Given the description of an element on the screen output the (x, y) to click on. 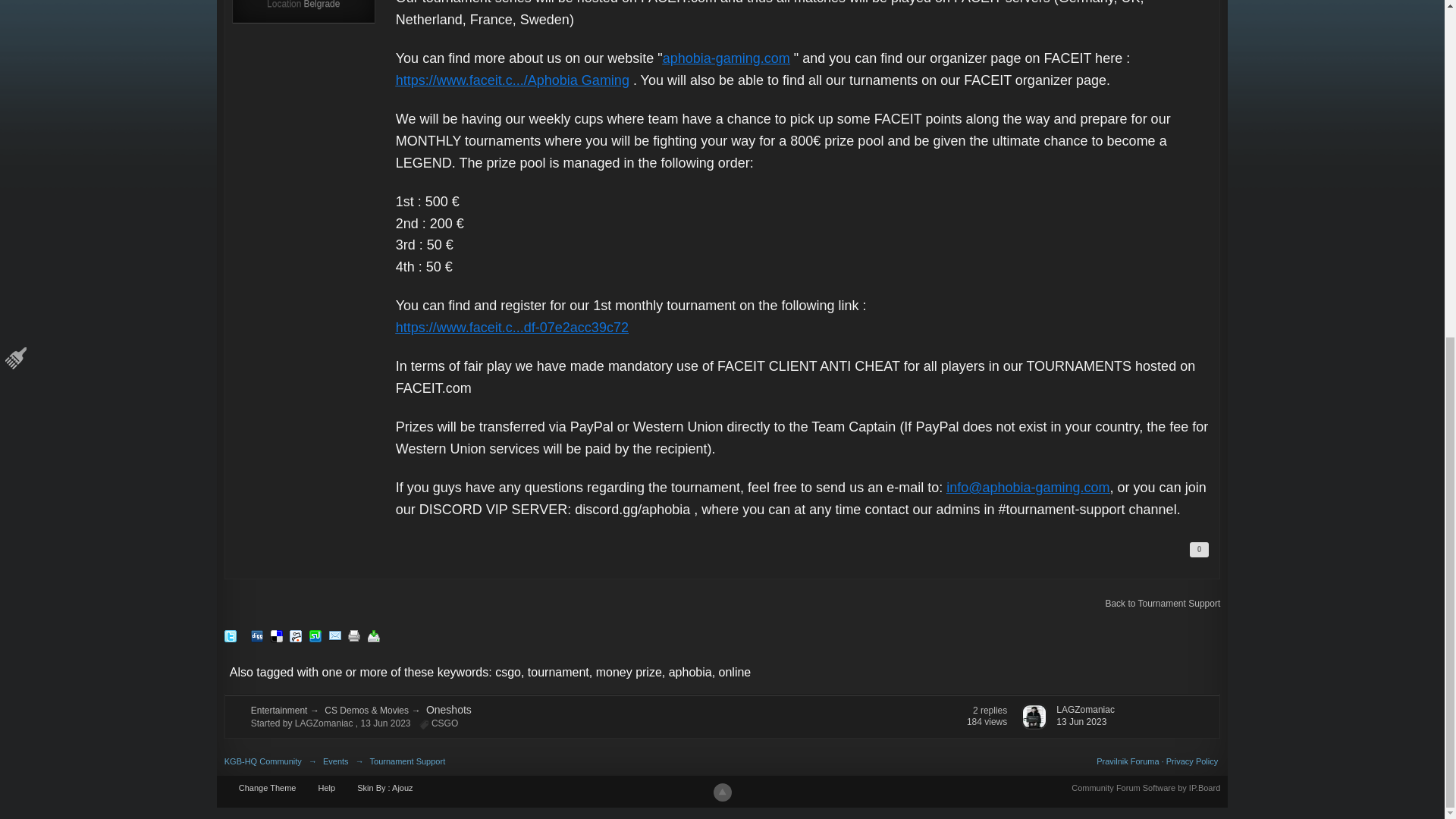
External link (512, 79)
External link (726, 58)
External link (1027, 487)
aphobia-gaming.com (726, 58)
Reputation (1199, 549)
External link (512, 327)
Back to Tournament Support (1162, 603)
